Given the description of an element on the screen output the (x, y) to click on. 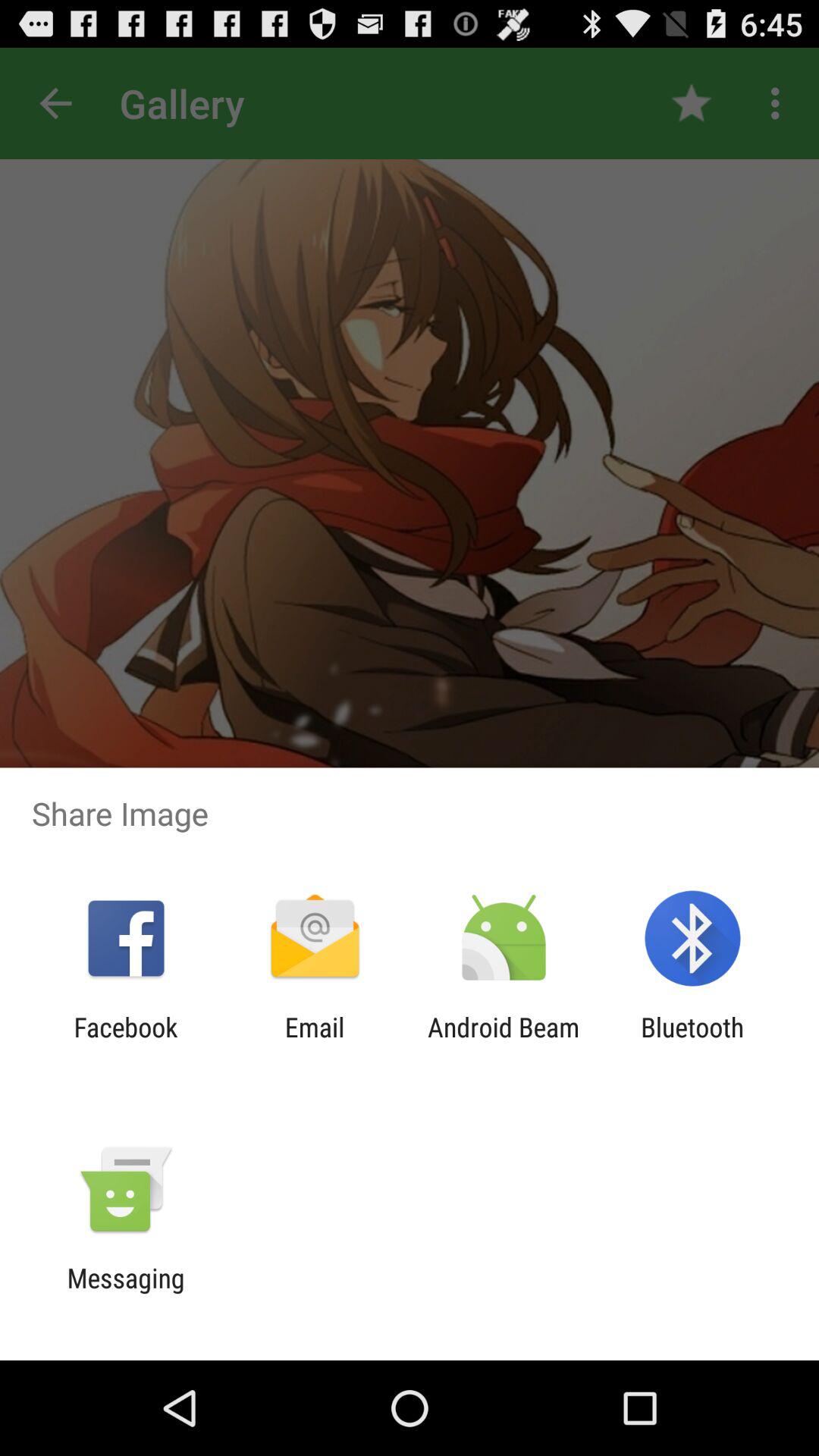
open icon to the left of bluetooth item (503, 1042)
